Given the description of an element on the screen output the (x, y) to click on. 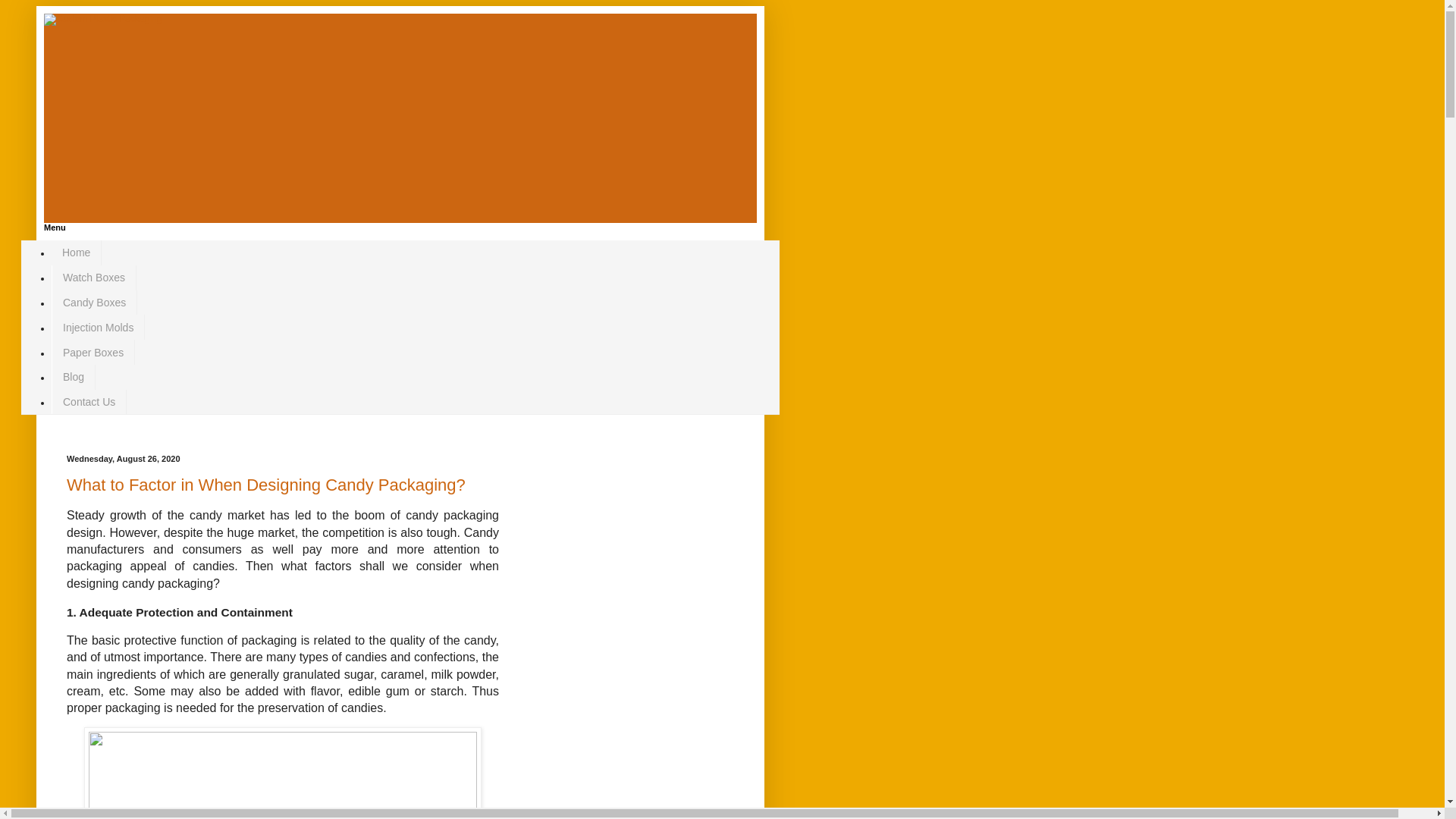
Injection Molds (97, 326)
Home (75, 252)
Contact Us (88, 401)
Watch Boxes (93, 277)
Paper Boxes (92, 351)
Candy Boxes (93, 302)
What to Factor in When Designing Candy Packaging? (265, 484)
Blog (73, 376)
